Given the description of an element on the screen output the (x, y) to click on. 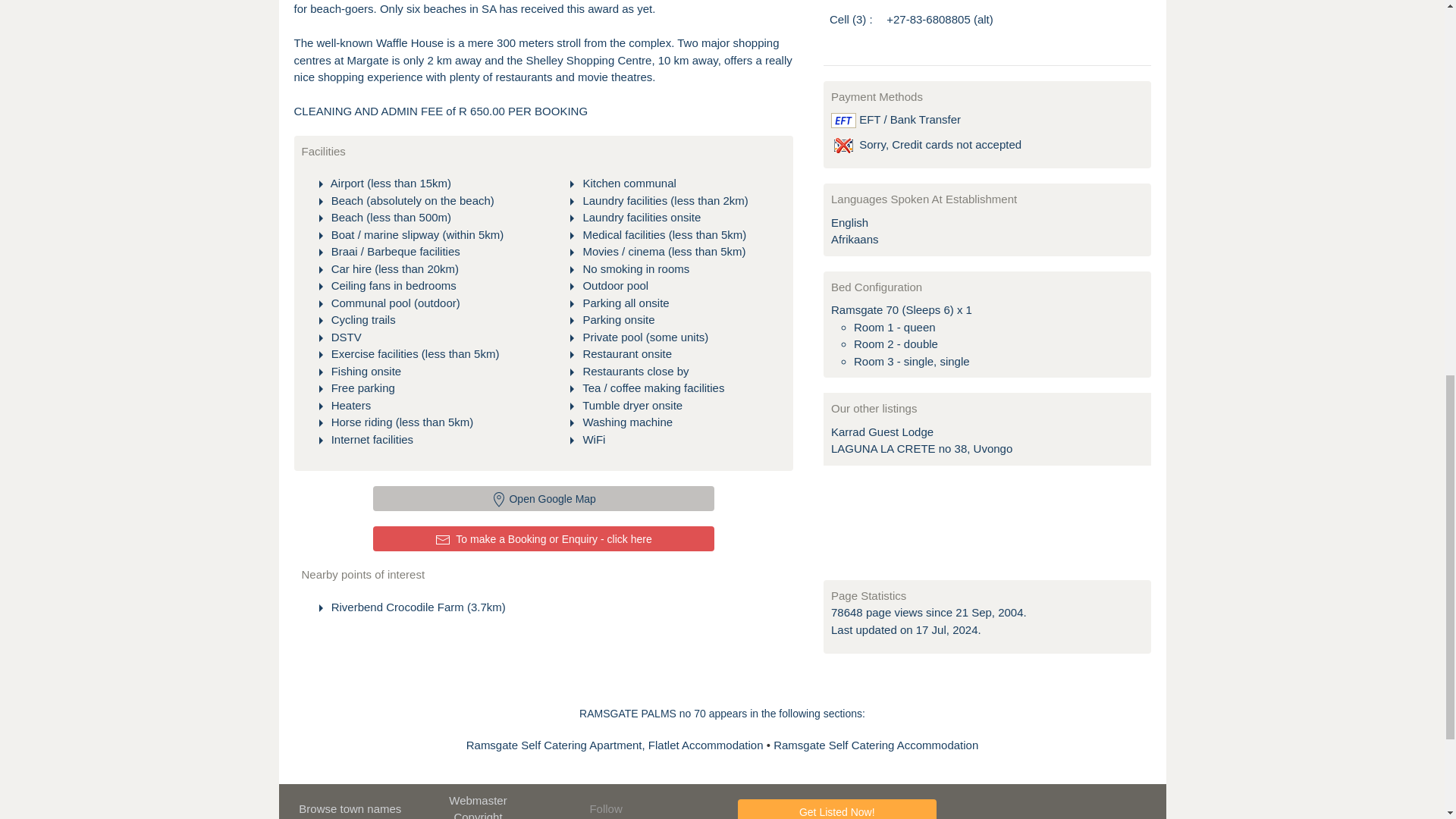
Ramsgate Self Catering Accommodation (875, 744)
LAGUNA LA CRETE no 38, Uvongo (921, 448)
  To make a Booking or Enquiry - click here (543, 538)
Karrad Guest Lodge (882, 431)
Sorry, Credit cards not accepted (843, 145)
Ramsgate Self Catering Apartment, Flatlet Accommodation (616, 744)
